Given the description of an element on the screen output the (x, y) to click on. 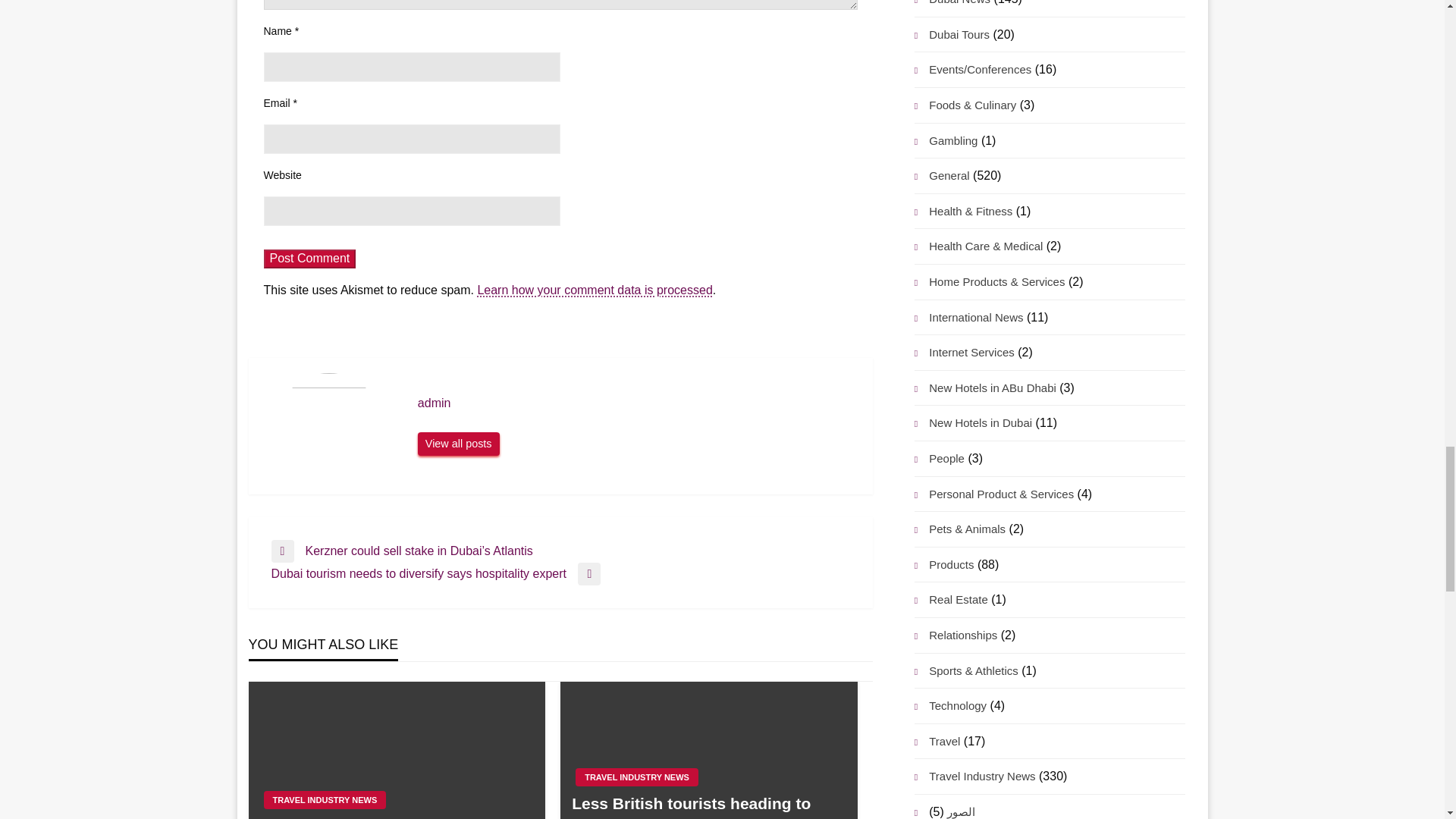
Less British tourists heading to Dubai in 2011 (708, 805)
Dubai-Tuzla flight may start in July (396, 816)
Learn how your comment data is processed (594, 289)
TRAVEL INDUSTRY NEWS (325, 800)
TRAVEL INDUSTRY NEWS (636, 777)
View all posts (458, 444)
admin (458, 444)
Post Comment (309, 258)
Post Comment (309, 258)
